Given the description of an element on the screen output the (x, y) to click on. 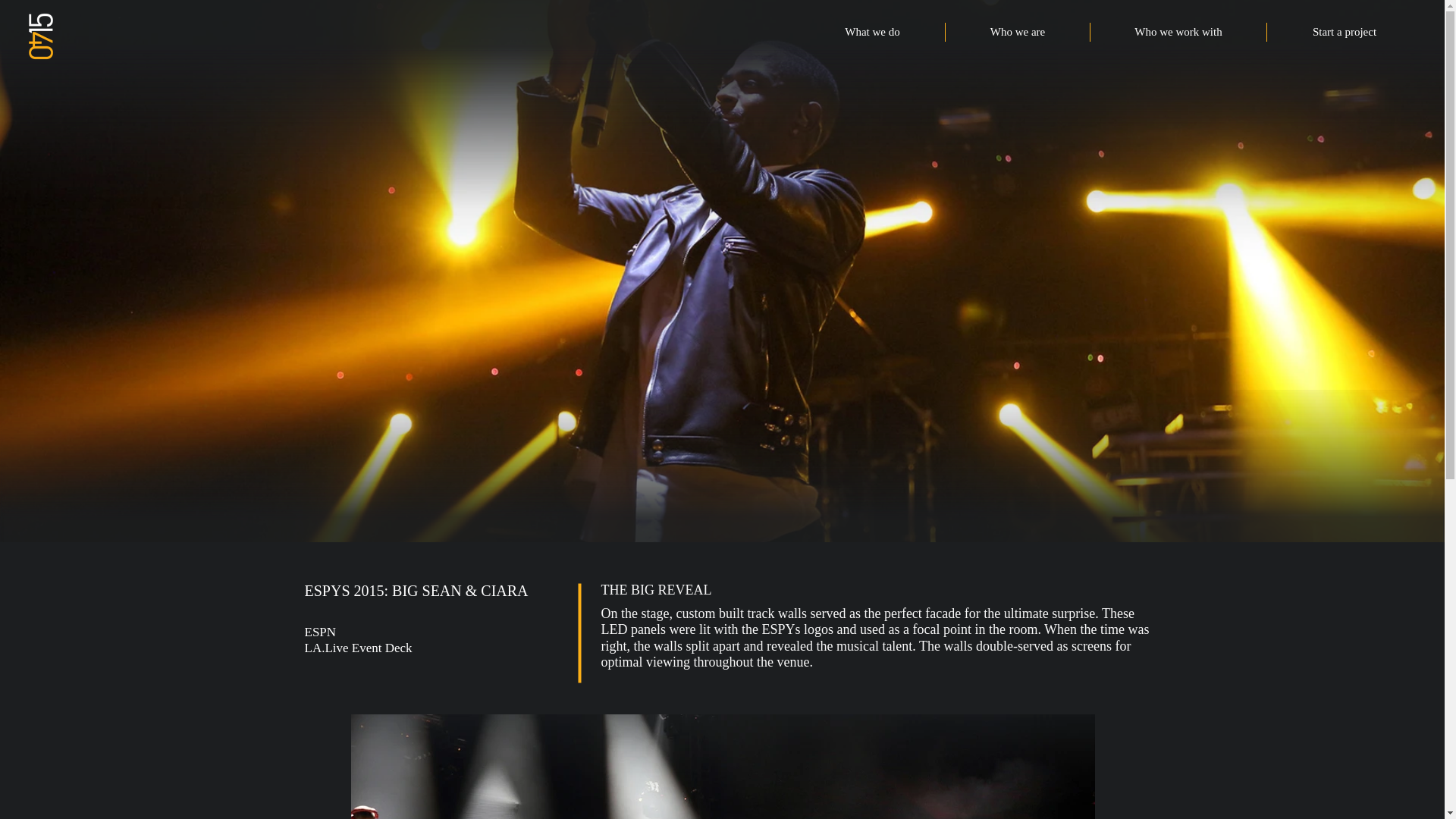
What we do (871, 31)
Who we work with (1178, 31)
Start a project (1344, 31)
Who we are (1016, 31)
